Given the description of an element on the screen output the (x, y) to click on. 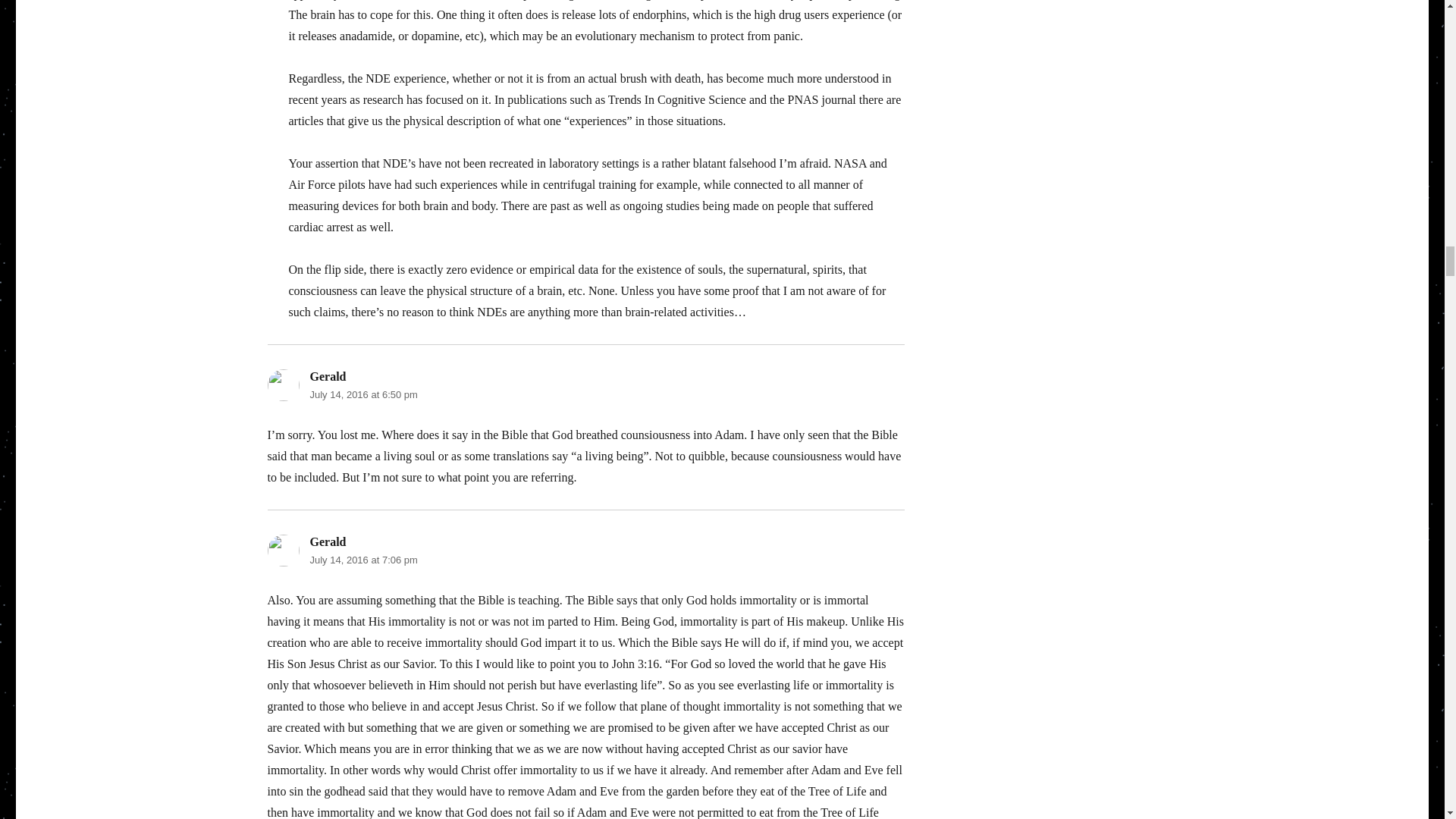
July 14, 2016 at 7:06 pm (362, 559)
July 14, 2016 at 6:50 pm (362, 394)
